Given the description of an element on the screen output the (x, y) to click on. 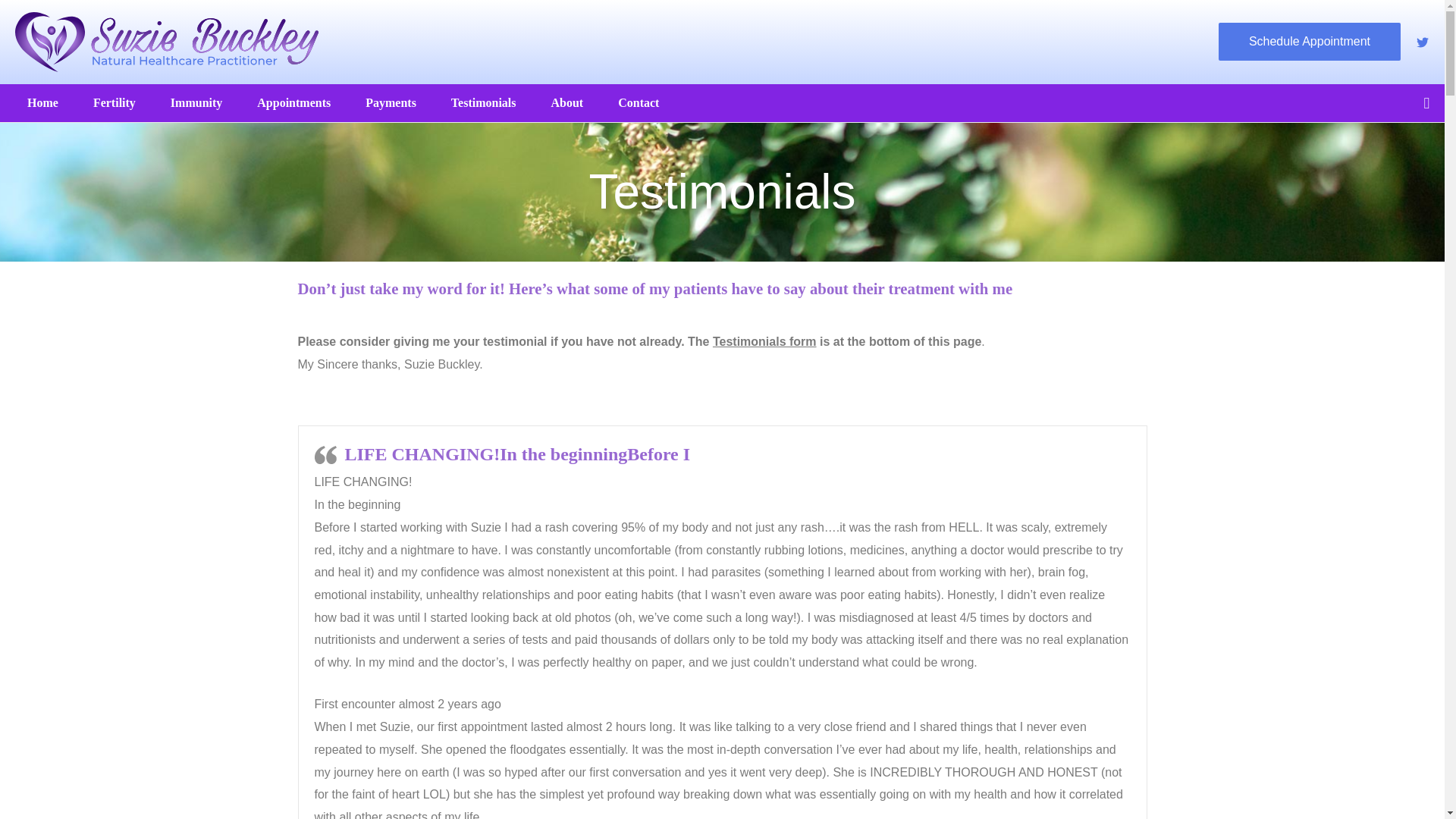
Appointments (298, 102)
About (572, 102)
Home (47, 102)
Immunity (201, 102)
Fertility (119, 102)
Testimonials (488, 102)
Payments (396, 102)
Search (18, 18)
Schedule Appointment (1309, 41)
Contact (643, 102)
